Given the description of an element on the screen output the (x, y) to click on. 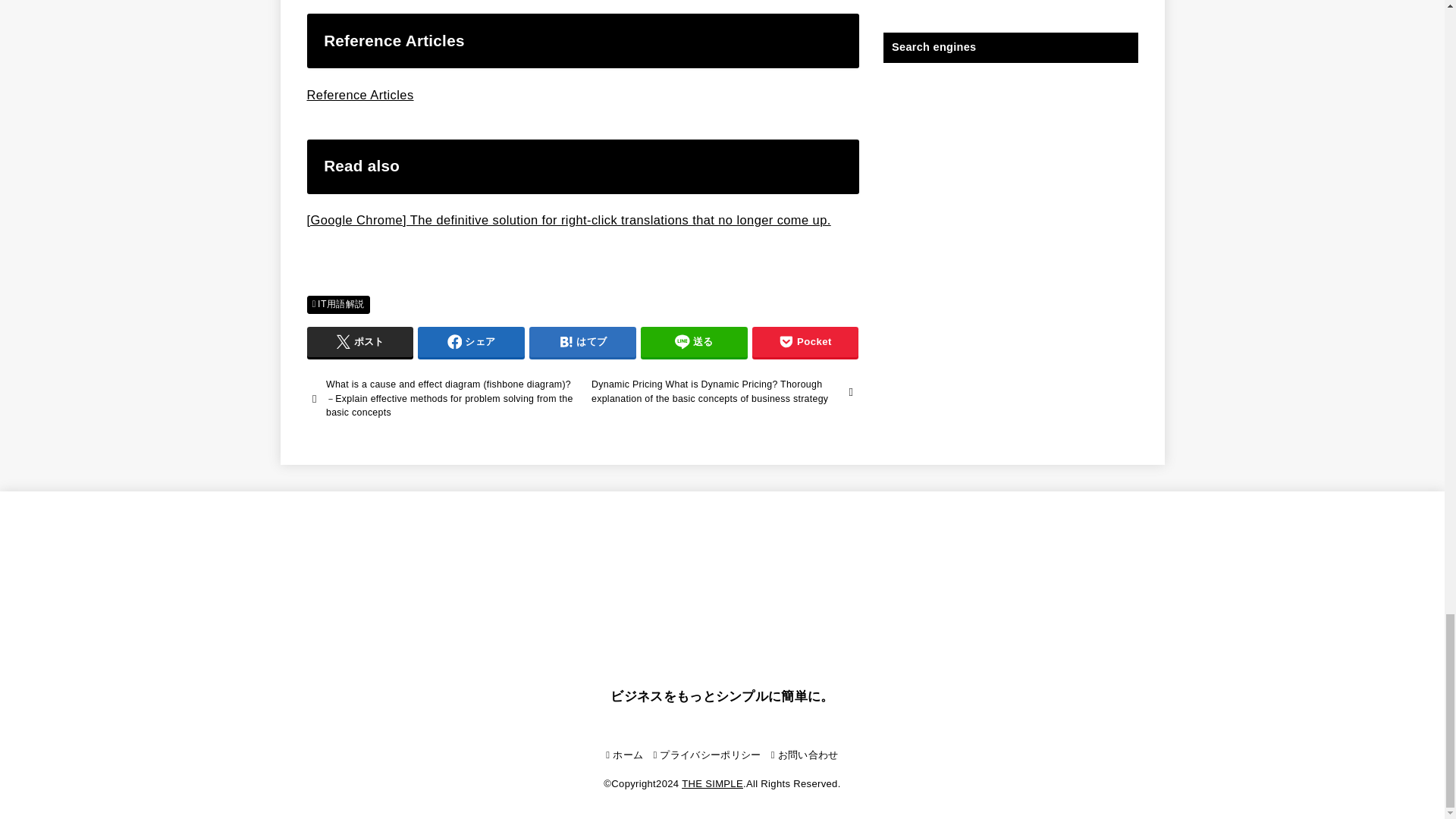
Reference Articles (359, 94)
Pocket (805, 341)
